Given the description of an element on the screen output the (x, y) to click on. 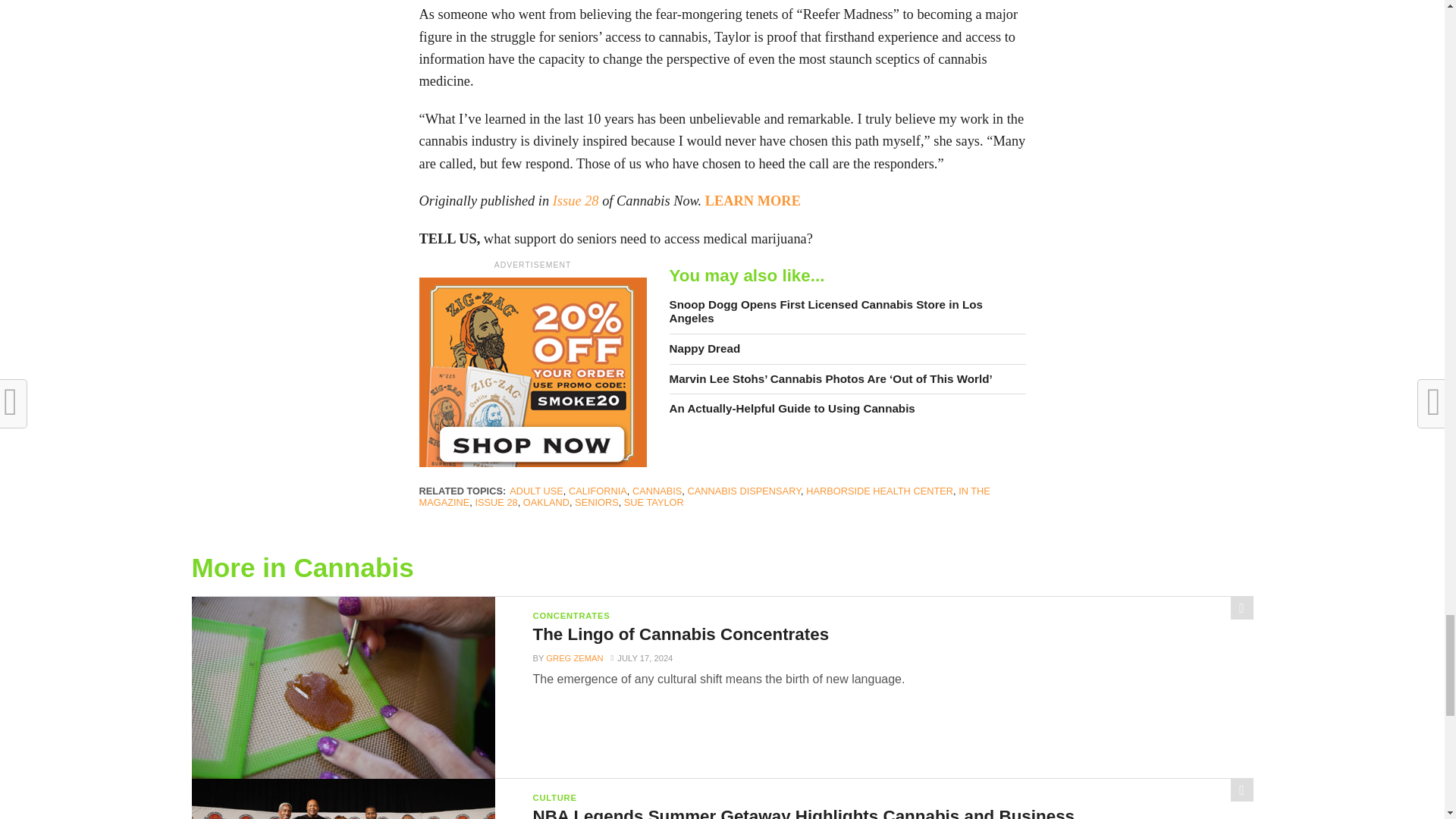
Posts by Greg Zeman (574, 657)
